Given the description of an element on the screen output the (x, y) to click on. 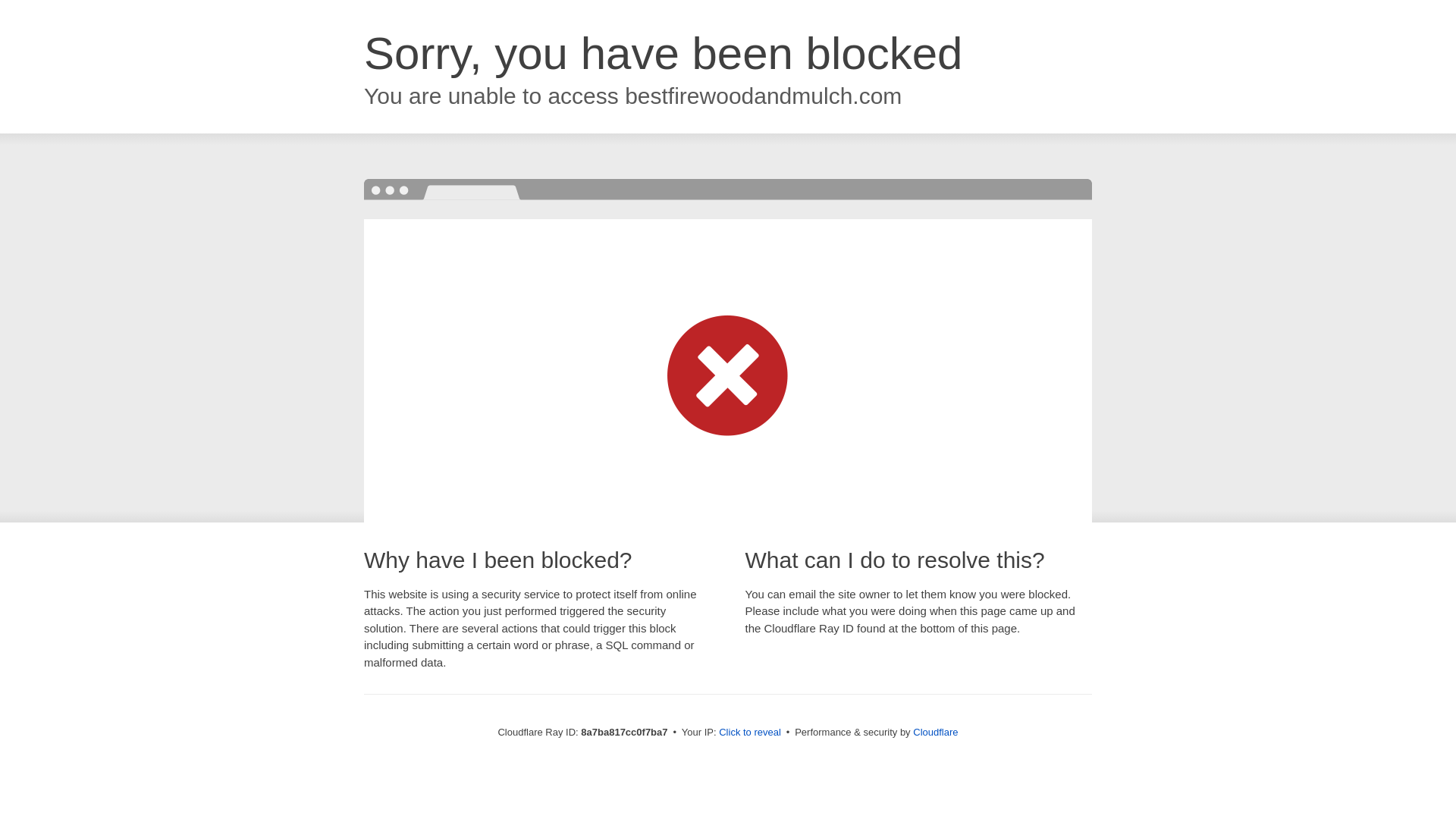
Click to reveal (749, 732)
Cloudflare (935, 731)
